Given the description of an element on the screen output the (x, y) to click on. 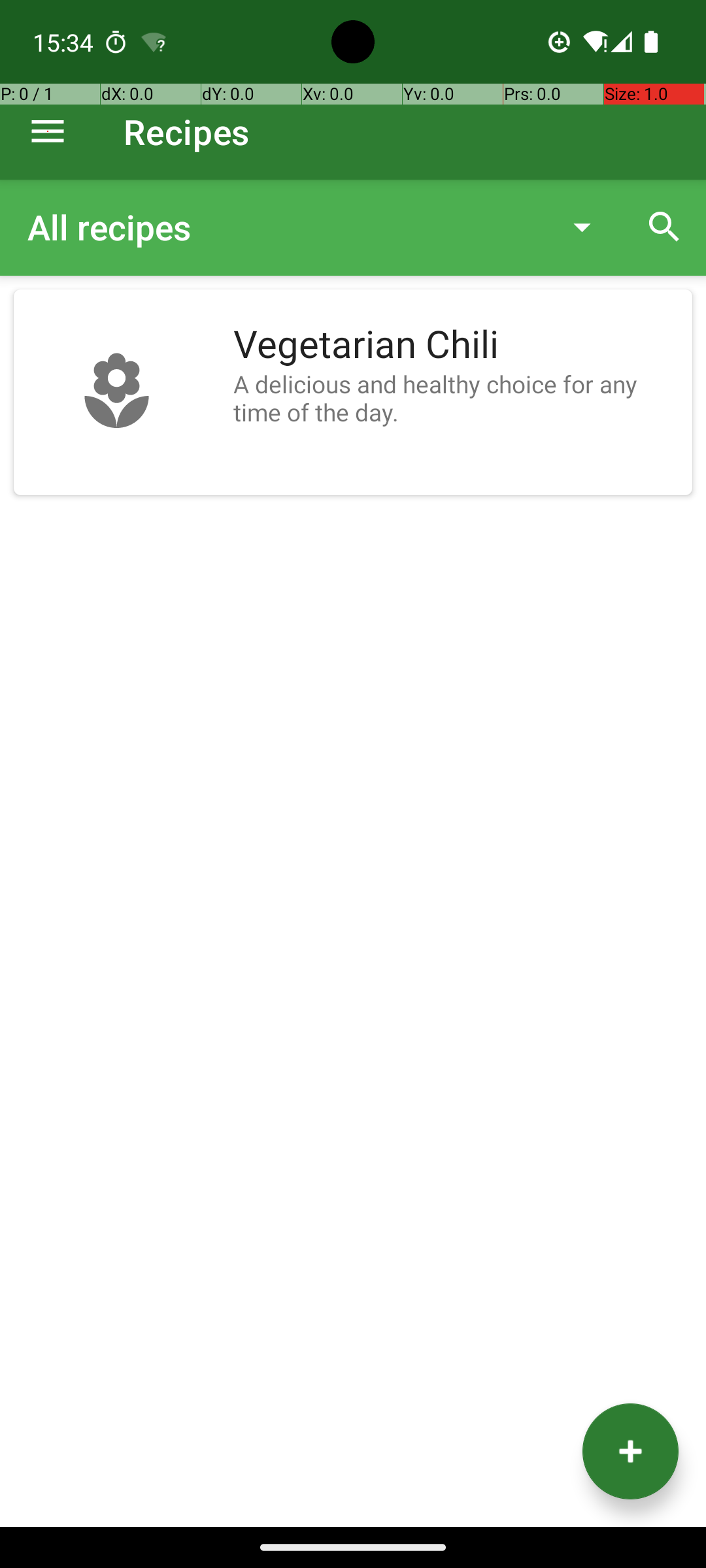
Vegetarian Chili Element type: android.widget.TextView (455, 344)
